Given the description of an element on the screen output the (x, y) to click on. 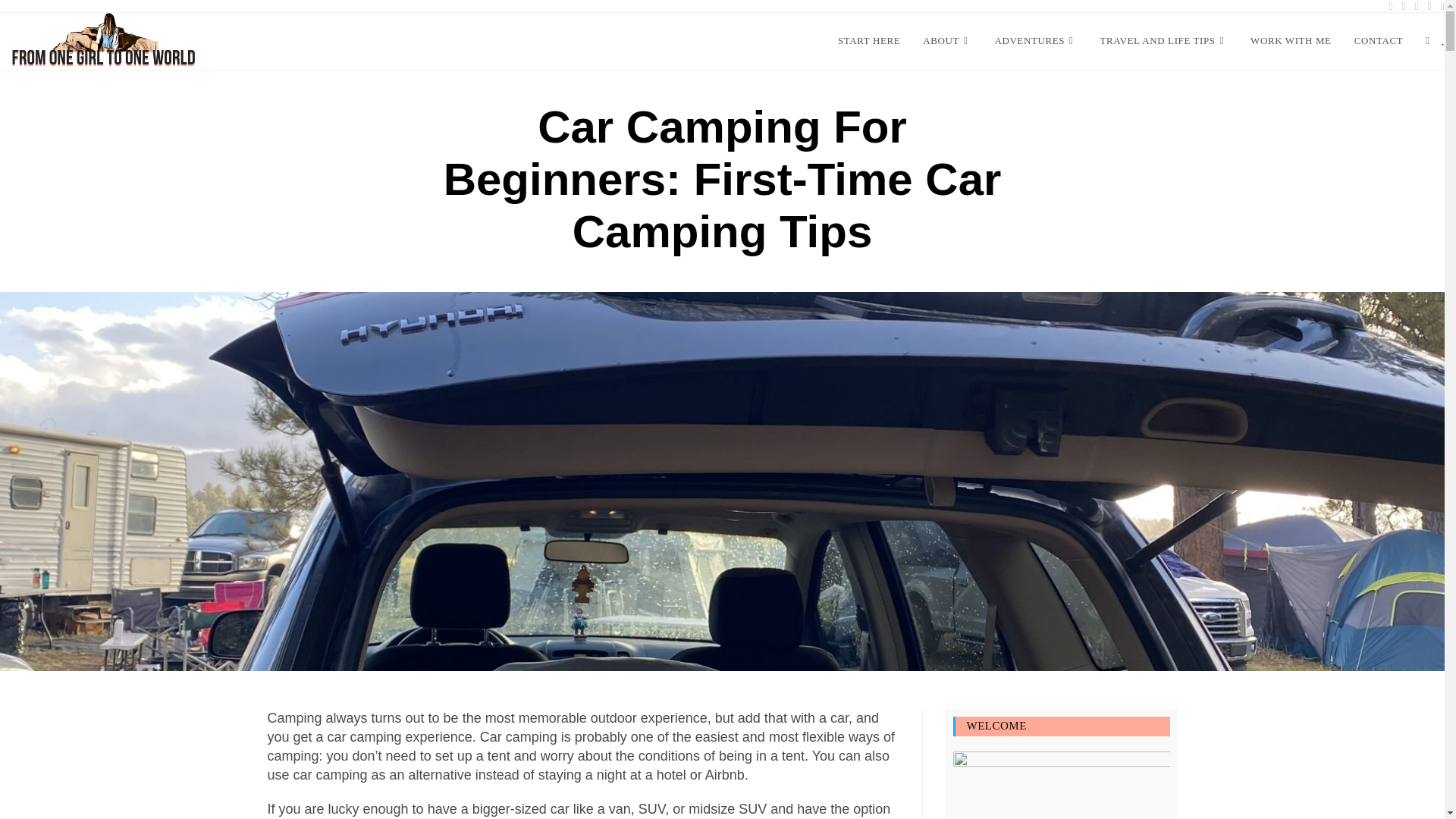
START HERE (869, 40)
ADVENTURES (1034, 40)
ABOUT (946, 40)
